Given the description of an element on the screen output the (x, y) to click on. 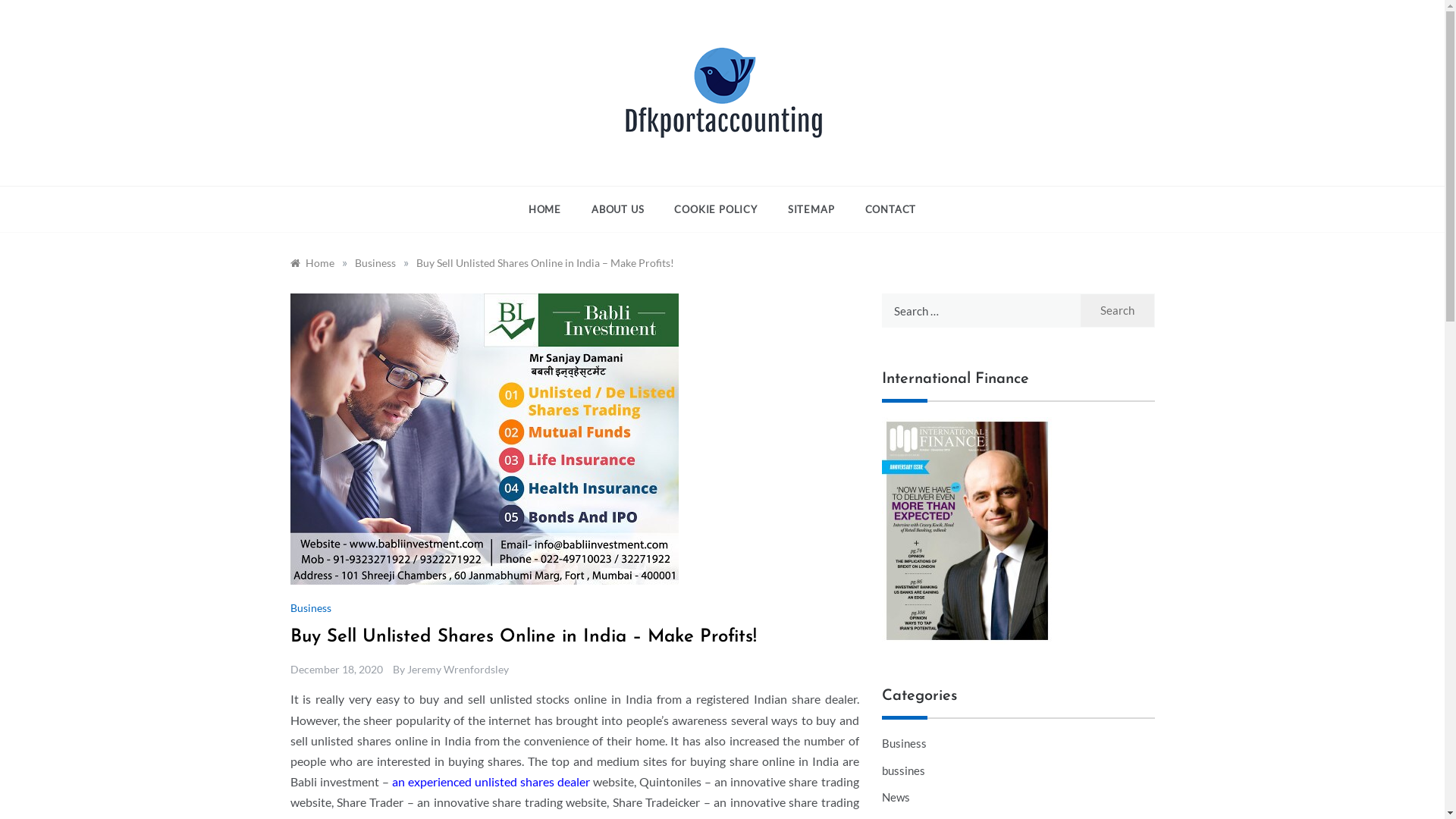
Home Element type: text (311, 262)
an experienced unlisted shares dealer Element type: text (490, 781)
News Element type: text (895, 797)
Dfkportaccounting Element type: text (613, 171)
Jeremy Wrenfordsley Element type: text (457, 668)
SITEMAP Element type: text (811, 209)
December 18, 2020 Element type: text (335, 668)
CONTACT Element type: text (882, 209)
Business Element type: text (903, 743)
bussines Element type: text (902, 771)
Search Element type: text (1116, 310)
Business Element type: text (374, 262)
COOKIE POLICY Element type: text (714, 209)
ABOUT US Element type: text (617, 209)
HOME Element type: text (552, 209)
Business Element type: text (311, 607)
